Given the description of an element on the screen output the (x, y) to click on. 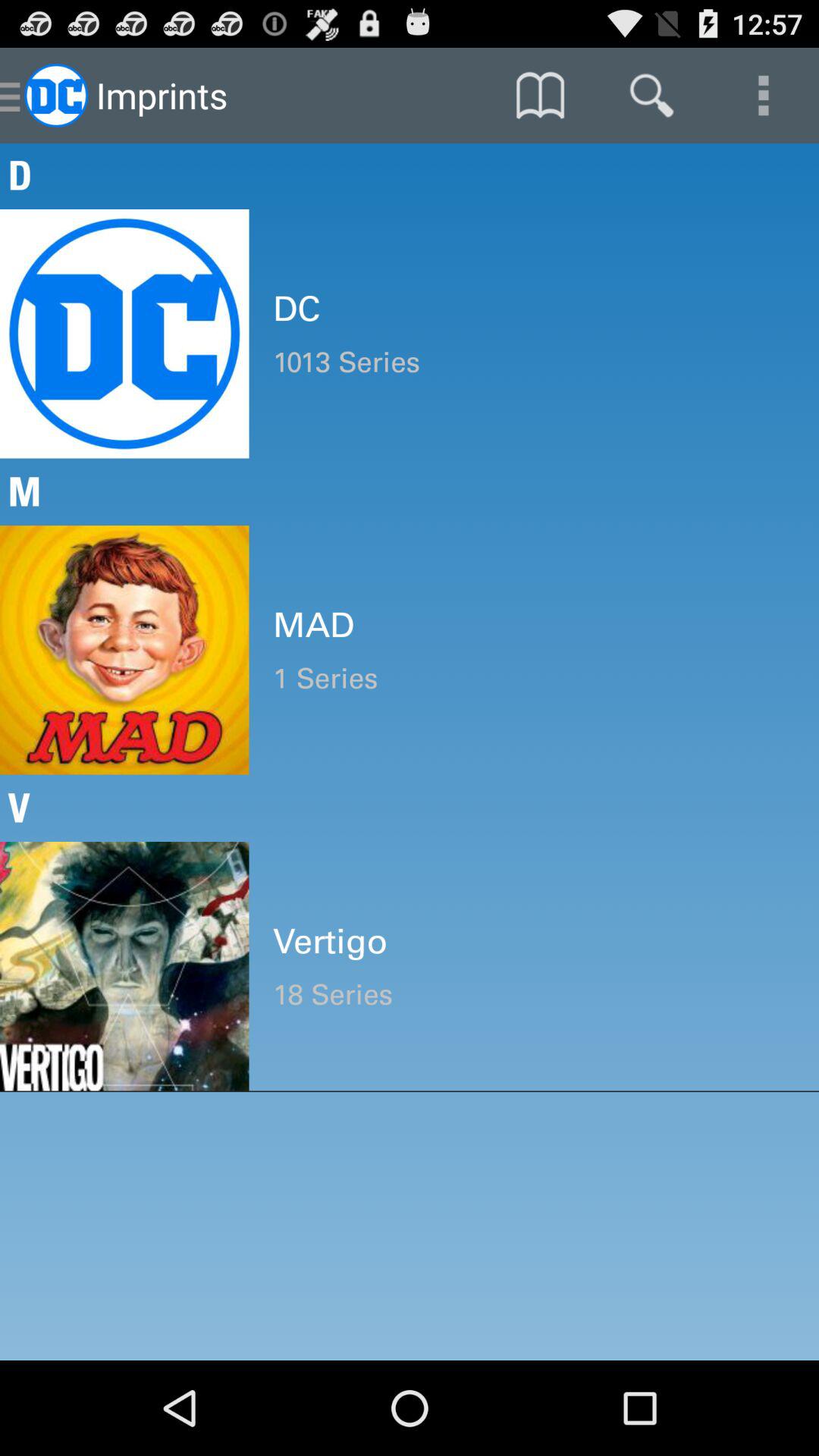
turn off icon above the d icon (540, 95)
